Given the description of an element on the screen output the (x, y) to click on. 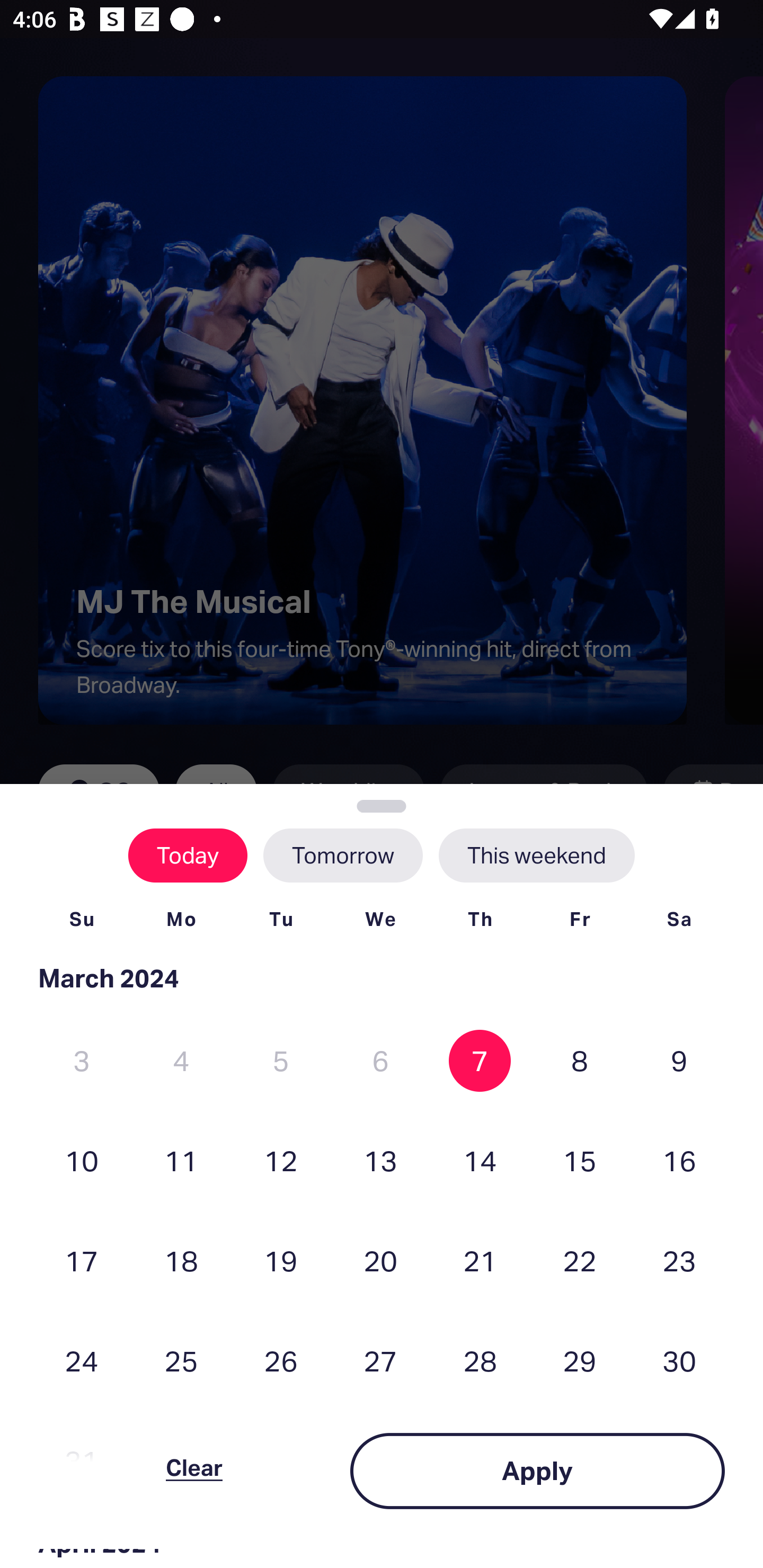
Today (187, 854)
Tomorrow (342, 854)
This weekend (536, 854)
3 (81, 1060)
4 (181, 1060)
5 (280, 1060)
6 (380, 1060)
7 (479, 1060)
8 (579, 1060)
9 (678, 1060)
10 (81, 1160)
11 (181, 1160)
12 (280, 1160)
13 (380, 1160)
14 (479, 1160)
15 (579, 1160)
16 (678, 1160)
17 (81, 1260)
18 (181, 1260)
19 (280, 1260)
20 (380, 1260)
21 (479, 1260)
22 (579, 1260)
23 (678, 1260)
24 (81, 1360)
25 (181, 1360)
26 (280, 1360)
27 (380, 1360)
28 (479, 1360)
29 (579, 1360)
30 (678, 1360)
Clear (194, 1470)
Apply (537, 1470)
